Given the description of an element on the screen output the (x, y) to click on. 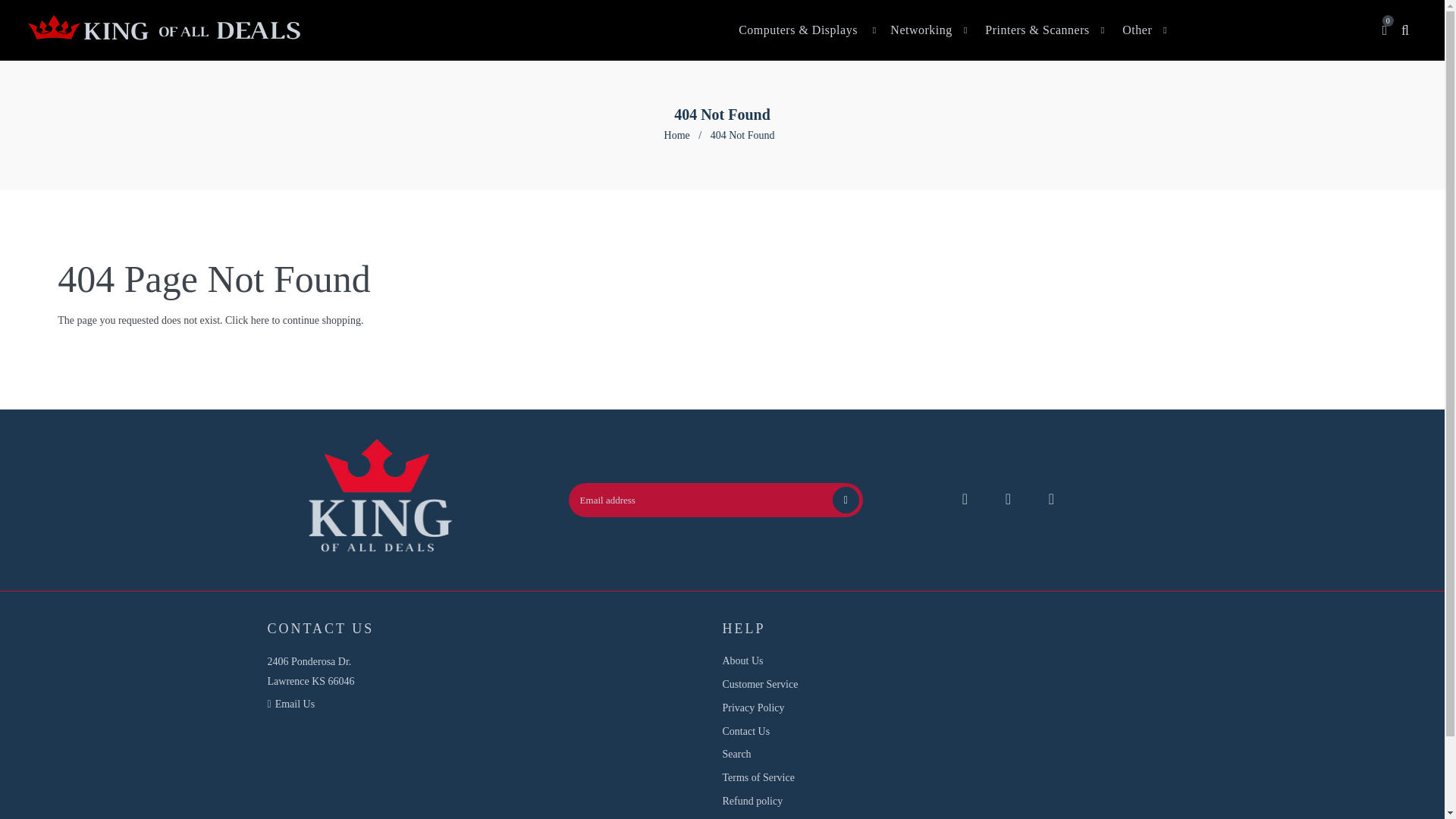
Other (1136, 29)
Networking (920, 29)
Back to the frontpage (678, 134)
